Given the description of an element on the screen output the (x, y) to click on. 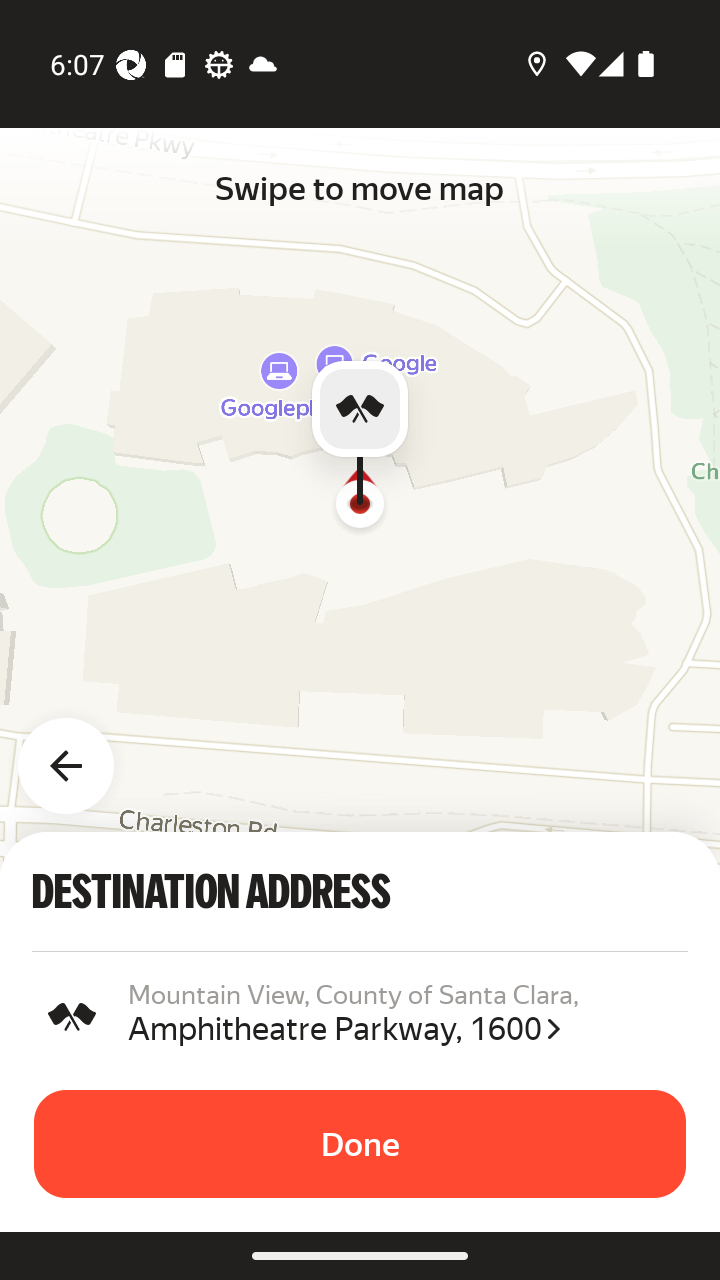
Back (78, 753)
Done (359, 1144)
